Given the description of an element on the screen output the (x, y) to click on. 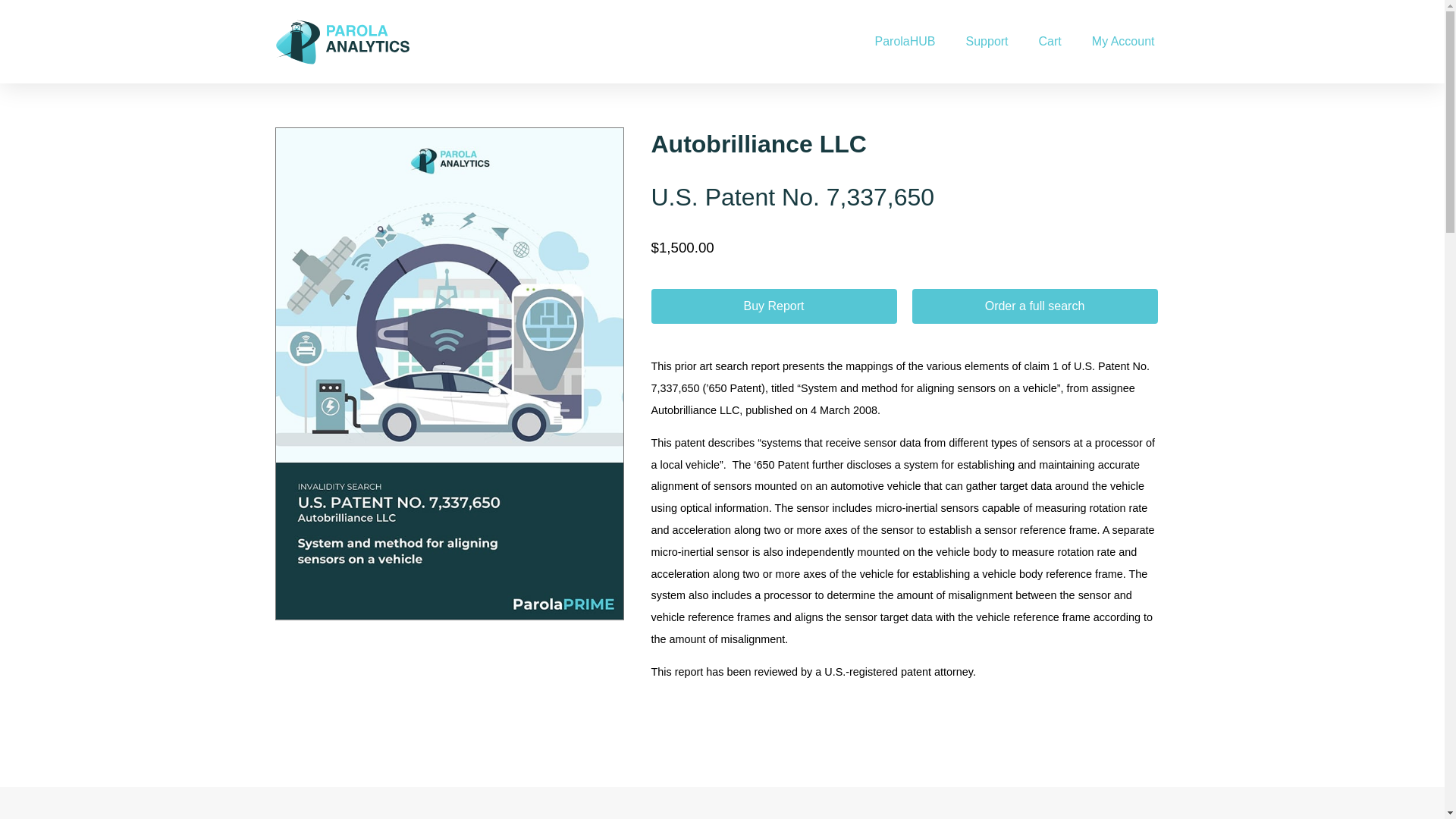
Support (986, 41)
ParolaHUB (904, 41)
My Account (1123, 41)
Buy Report (773, 306)
Order a full search (1034, 306)
Cart (1050, 41)
